Given the description of an element on the screen output the (x, y) to click on. 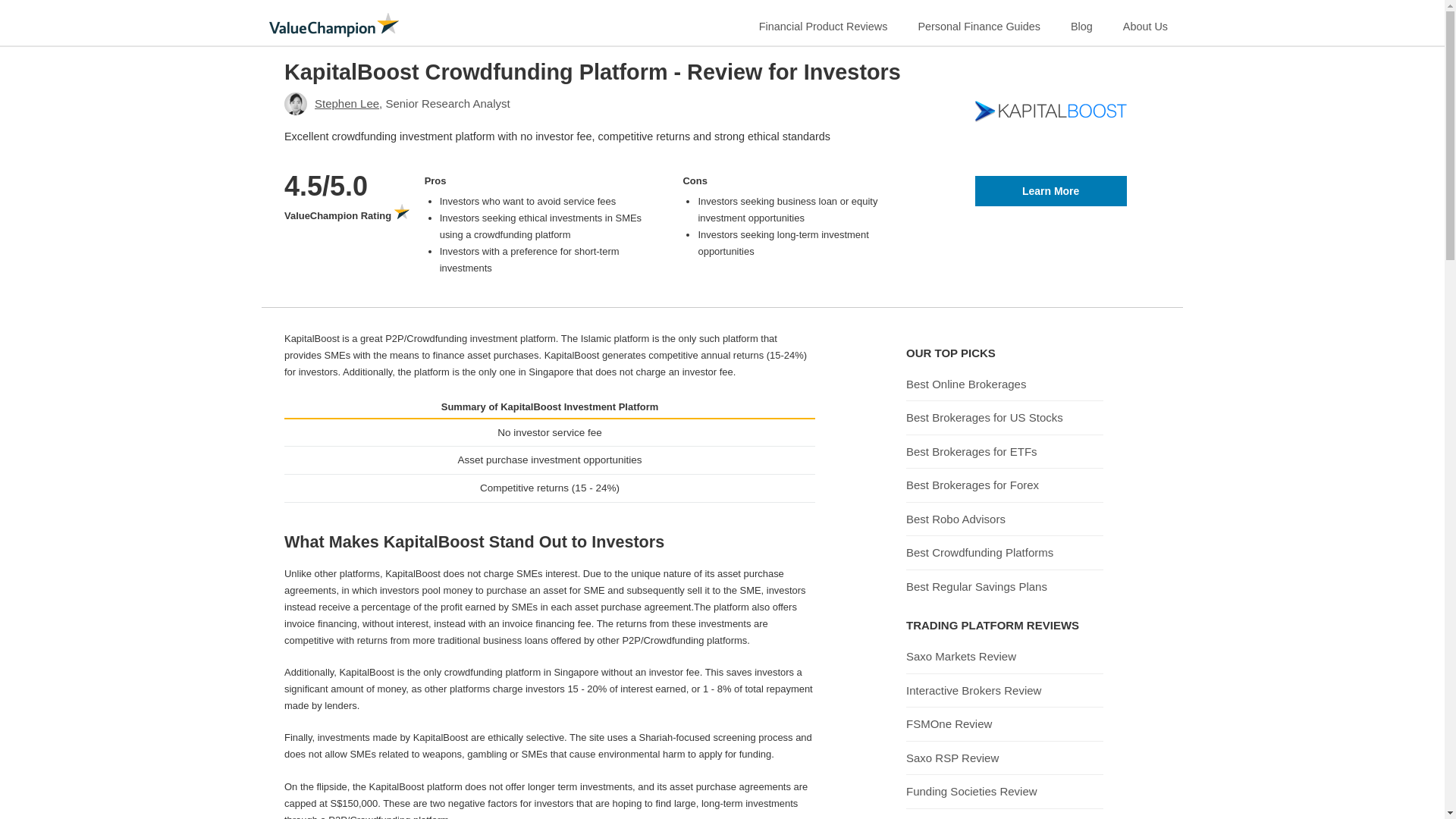
Best Brokerages for Forex (972, 485)
Home (333, 24)
Best Online Brokerages (965, 384)
Saxo Markets Review (960, 656)
Financial Product Reviews (823, 22)
KapitalBoost (1050, 191)
Best Crowdfunding Platforms (978, 552)
Best Brokerages for US Stocks (983, 417)
Best Brokerages for ETFs (970, 451)
Best Robo Advisors (955, 519)
Best Regular Savings Plans (975, 586)
